Given the description of an element on the screen output the (x, y) to click on. 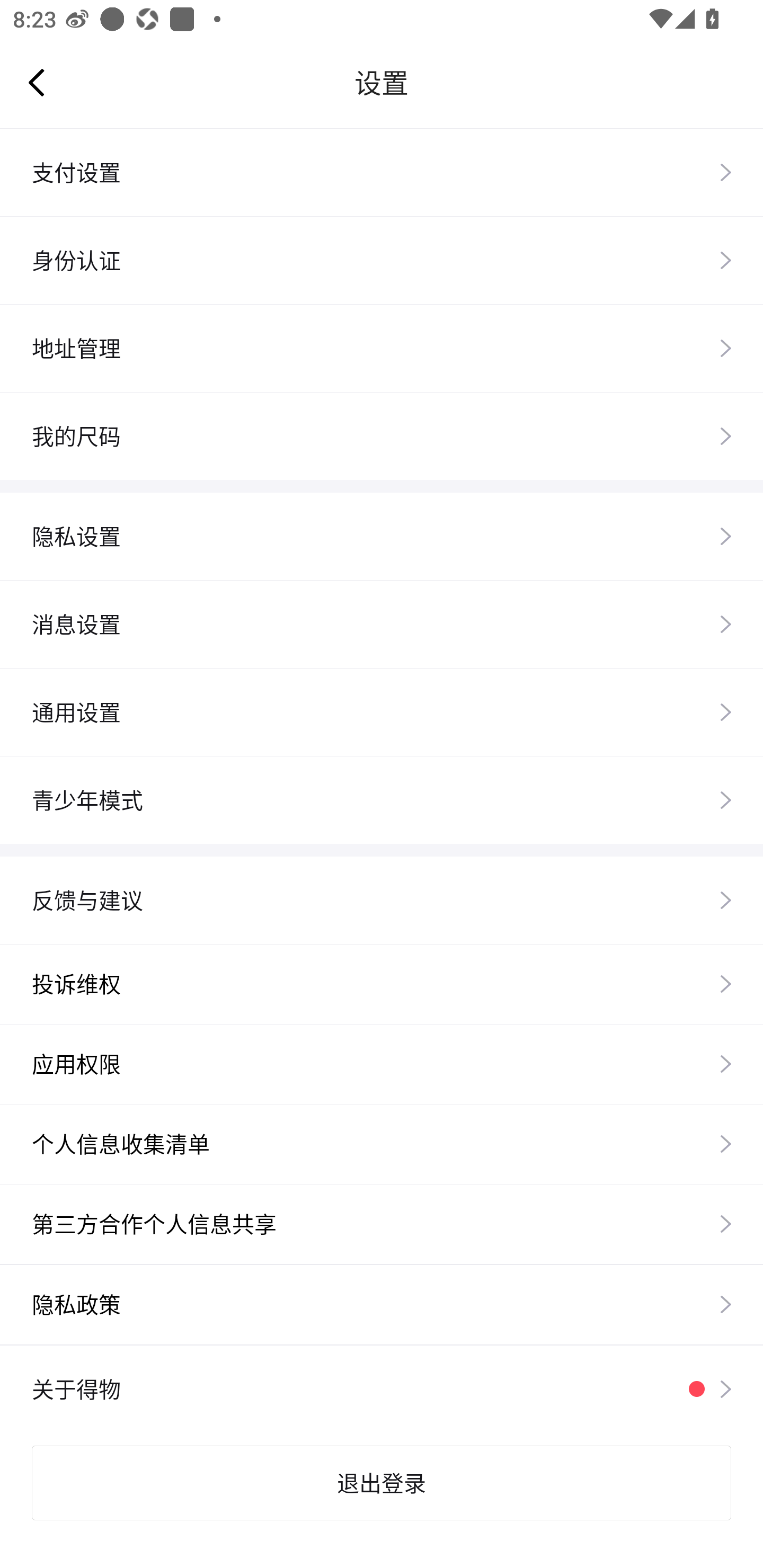
Navigate up (36, 82)
支付设置 (381, 172)
身份认证 (381, 260)
地址管理 (381, 348)
我的尺码 (381, 435)
隐私设置 (381, 536)
消息设置 (381, 623)
通用设置 (381, 711)
青少年模式 (381, 799)
反馈与建议 (381, 899)
投诉维权 (381, 983)
应用权限 (381, 1063)
个人信息收集清单 (381, 1143)
第三方合作个人信息共享 (381, 1223)
隐私政策 (381, 1304)
关于得物 (381, 1389)
退出登录 (381, 1482)
